Given the description of an element on the screen output the (x, y) to click on. 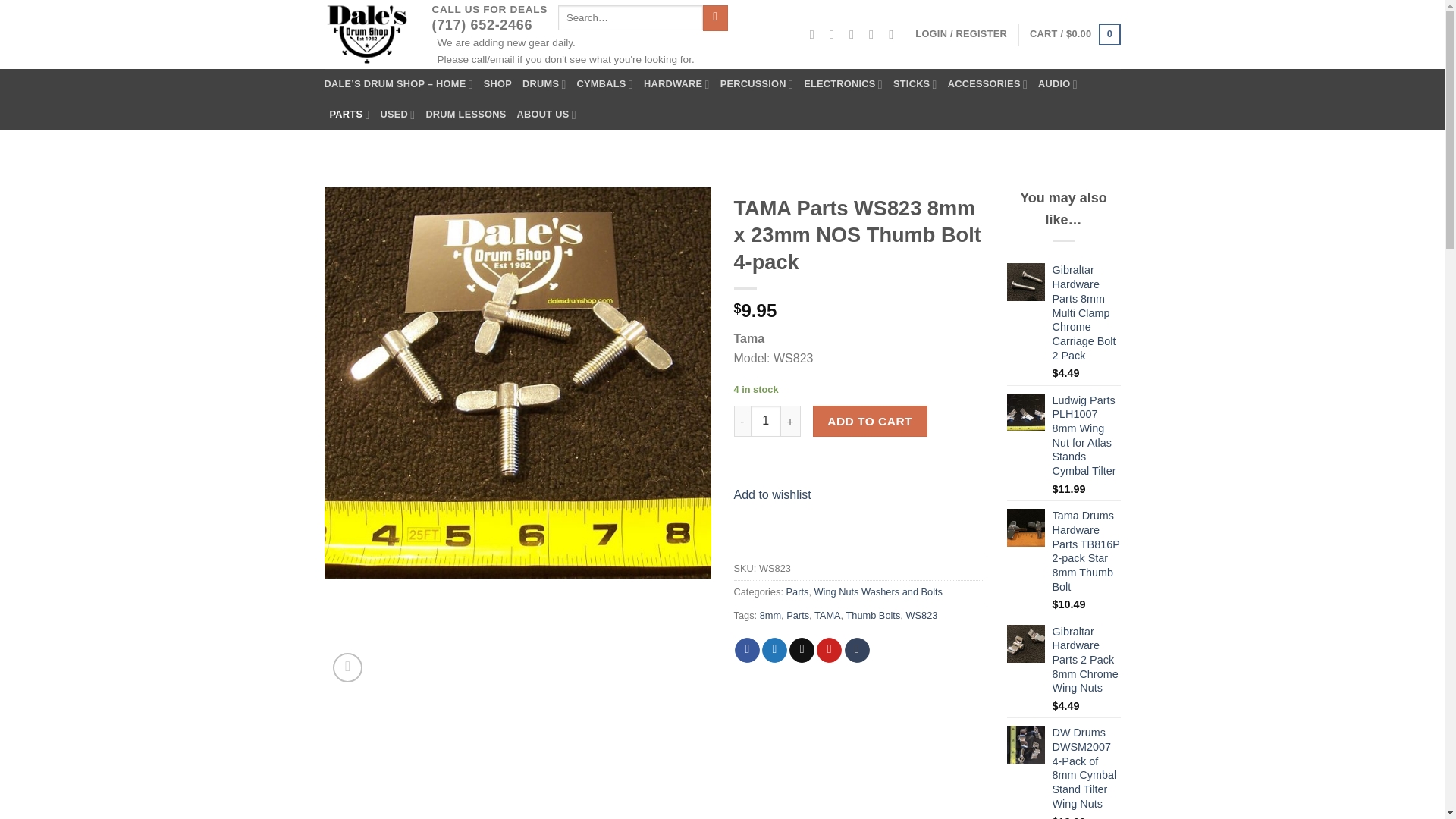
PayPal Message 1 (858, 465)
Zoom (347, 667)
1 (765, 420)
CYMBALS (604, 83)
Search (715, 17)
PayPal (858, 530)
DRUMS (544, 83)
Cart (1074, 34)
SHOP (497, 83)
Login (961, 33)
Send us an email (854, 33)
